Given the description of an element on the screen output the (x, y) to click on. 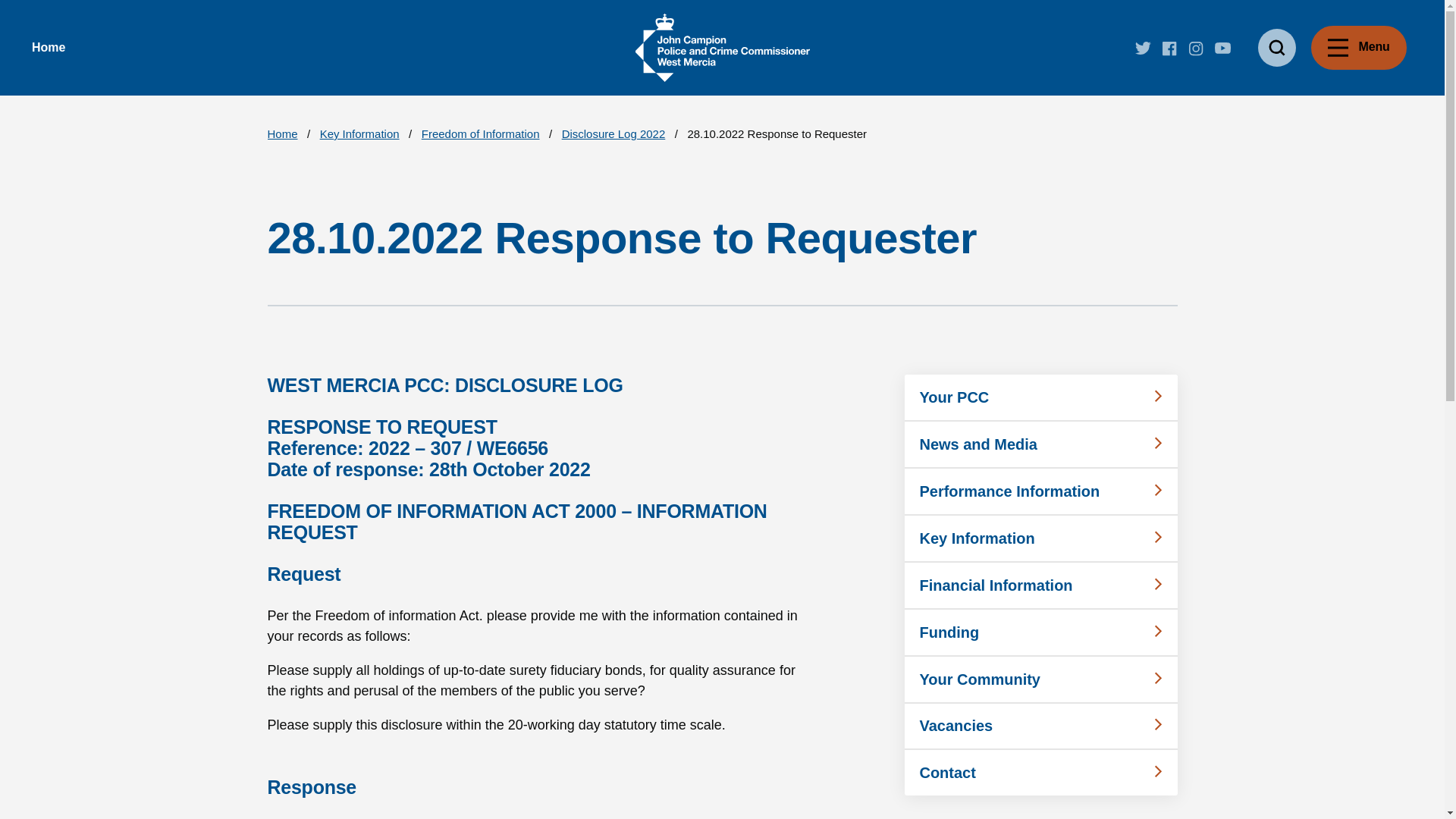
Menu (1358, 47)
Home (48, 47)
Accessibility Settings (13, 108)
